Given the description of an element on the screen output the (x, y) to click on. 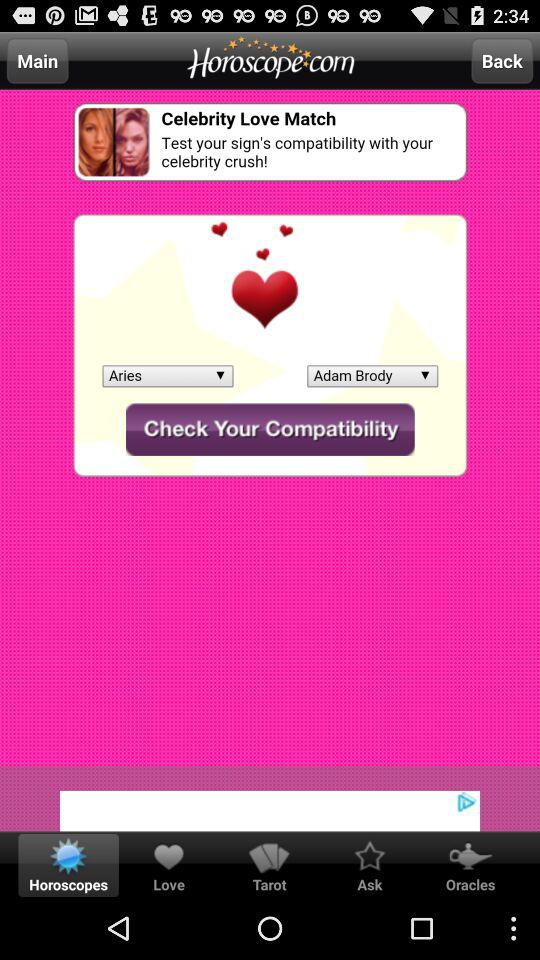
open advertisement (270, 798)
